Given the description of an element on the screen output the (x, y) to click on. 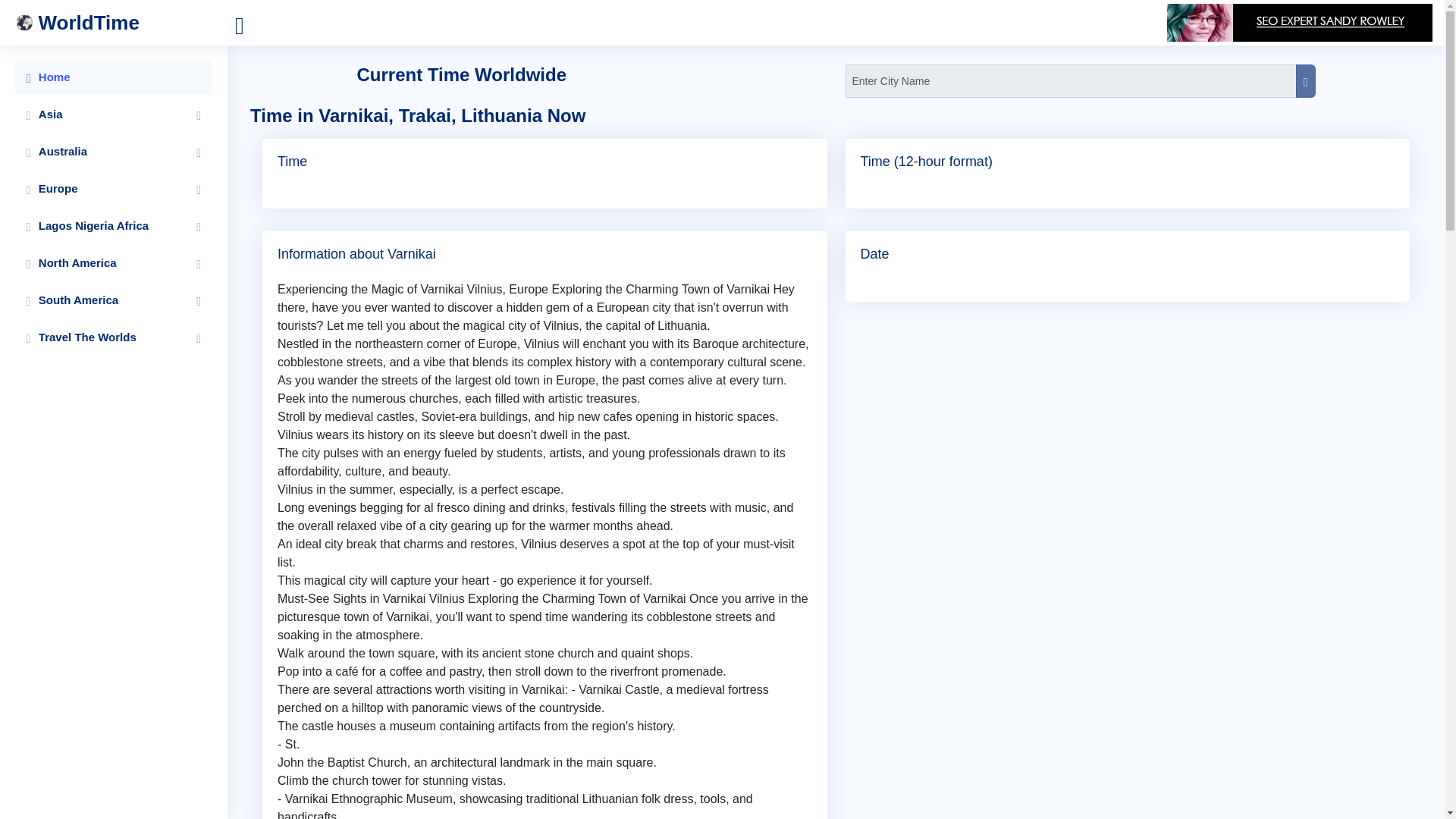
North America (113, 263)
South America (113, 299)
Travel The Worlds (113, 337)
Lagos Nigeria Africa (113, 225)
Australia (113, 151)
Europe (113, 188)
WorldTime (120, 22)
Home (113, 77)
Asia (113, 114)
